Given the description of an element on the screen output the (x, y) to click on. 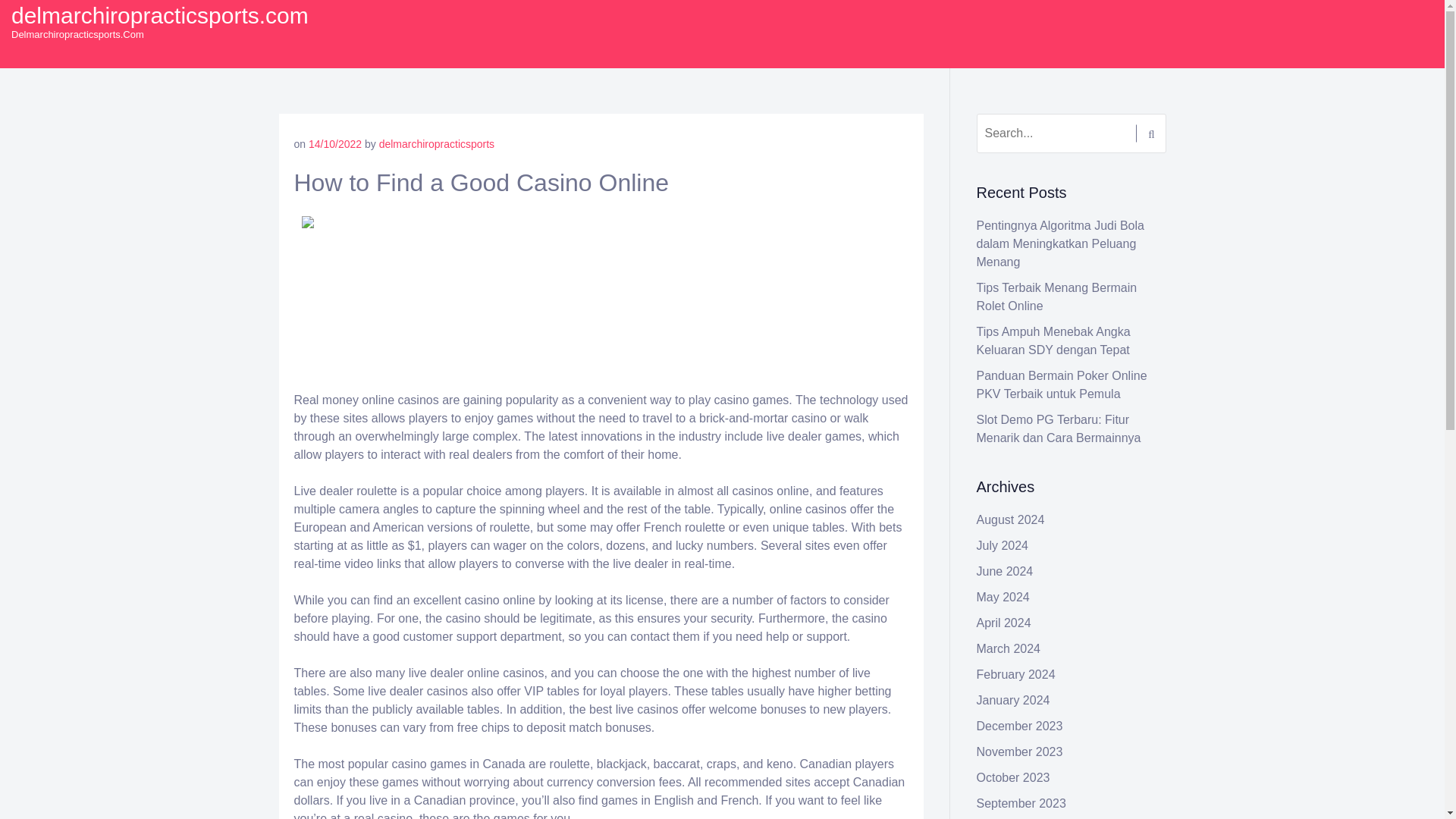
March 2024 (1008, 648)
January 2024 (1012, 699)
June 2024 (1004, 571)
delmarchiropracticsports.com (159, 15)
August 2024 (1010, 519)
Tips Ampuh Menebak Angka Keluaran SDY dengan Tepat (1053, 340)
July 2024 (1002, 545)
December 2023 (1019, 725)
Slot Demo PG Terbaru: Fitur Menarik dan Cara Bermainnya (1058, 428)
